Given the description of an element on the screen output the (x, y) to click on. 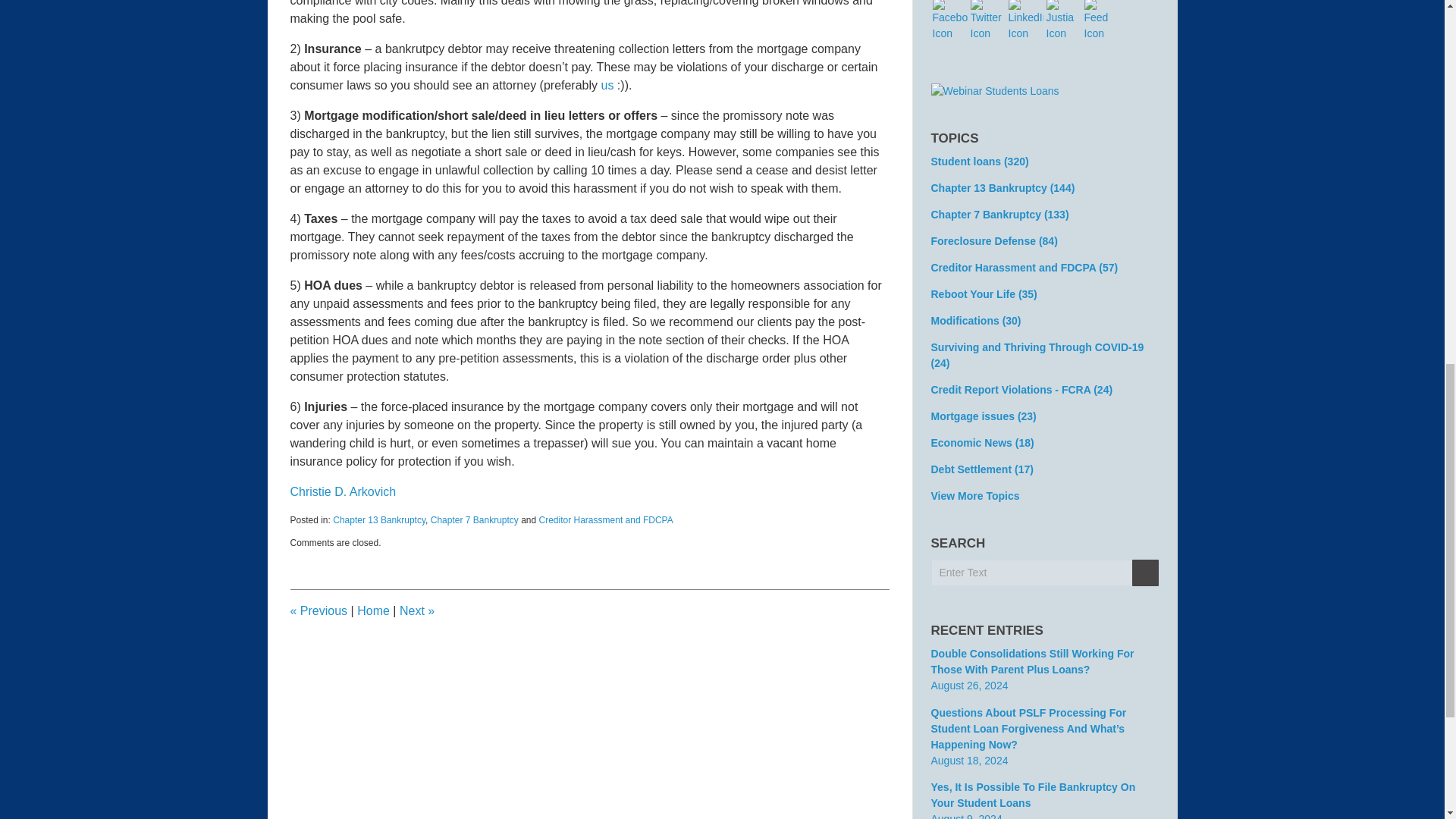
us (605, 84)
View all posts in Chapter 13 Bankruptcy (379, 520)
Chapter 13 Bankruptcy (379, 520)
LinkedIn (1026, 20)
Home (373, 610)
Creditor Harassment and FDCPA (605, 520)
Twitter (988, 20)
Feed (1102, 20)
Chapter 7 Bankruptcy (474, 520)
Justia (1064, 20)
